Given the description of an element on the screen output the (x, y) to click on. 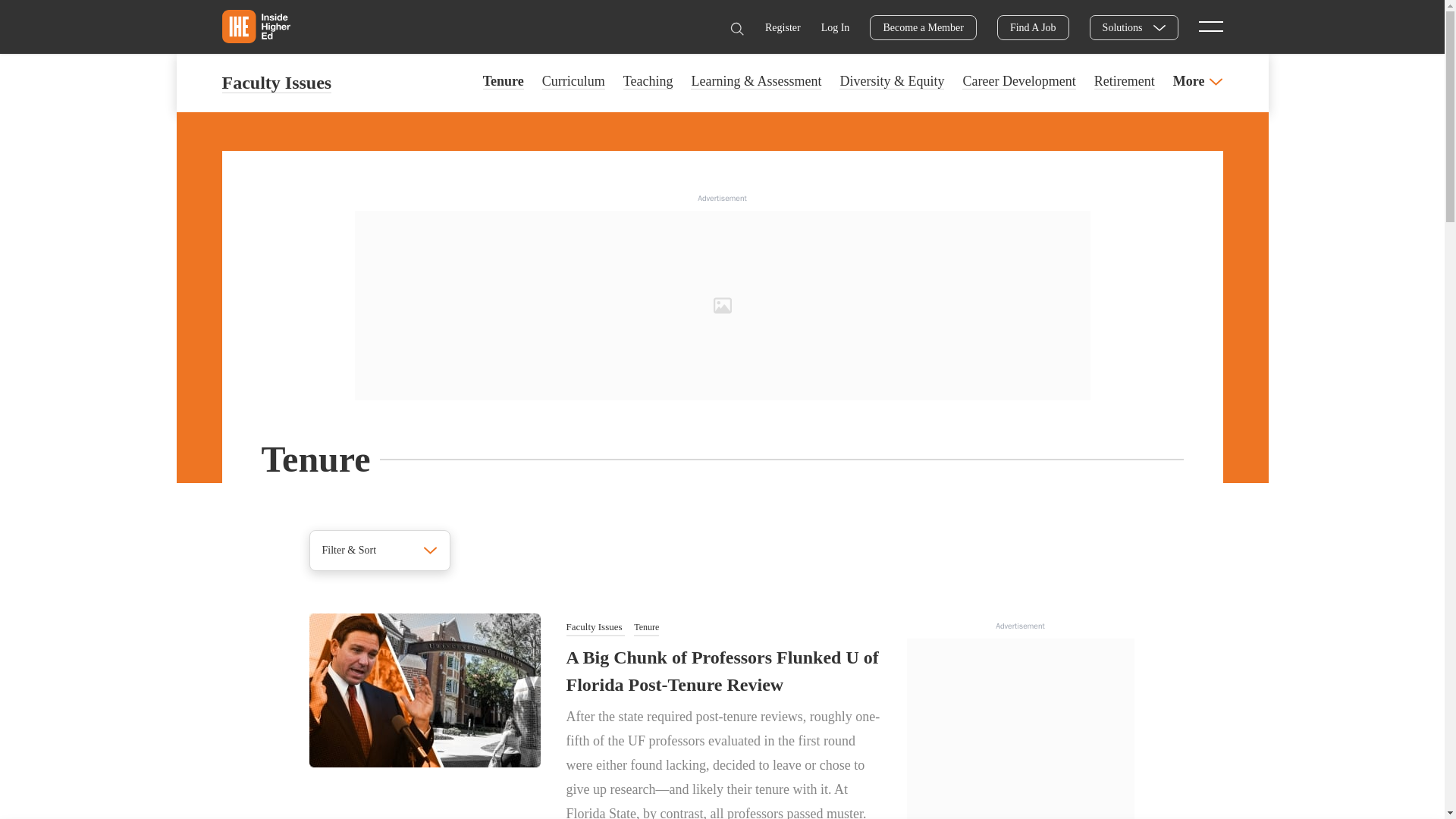
Home (255, 26)
Become a Member (922, 27)
Search (736, 28)
Find A Job (1032, 27)
